Given the description of an element on the screen output the (x, y) to click on. 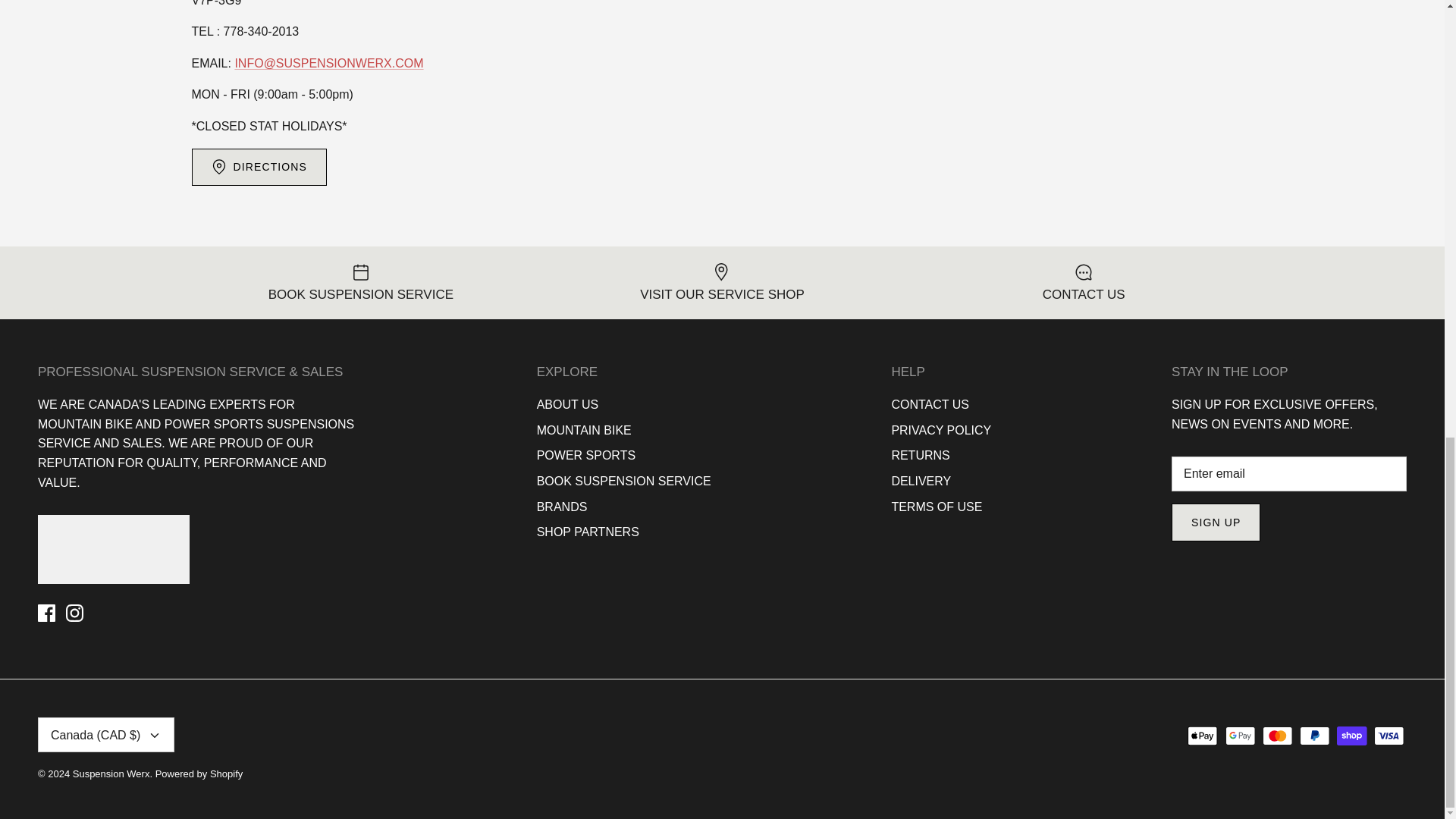
Google Pay (1240, 735)
Apple Pay (1202, 735)
Down (154, 735)
Visa (1388, 735)
Mastercard (1277, 735)
Instagram (73, 612)
Shop Pay (1351, 735)
Facebook (46, 612)
PayPal (1314, 735)
